Given the description of an element on the screen output the (x, y) to click on. 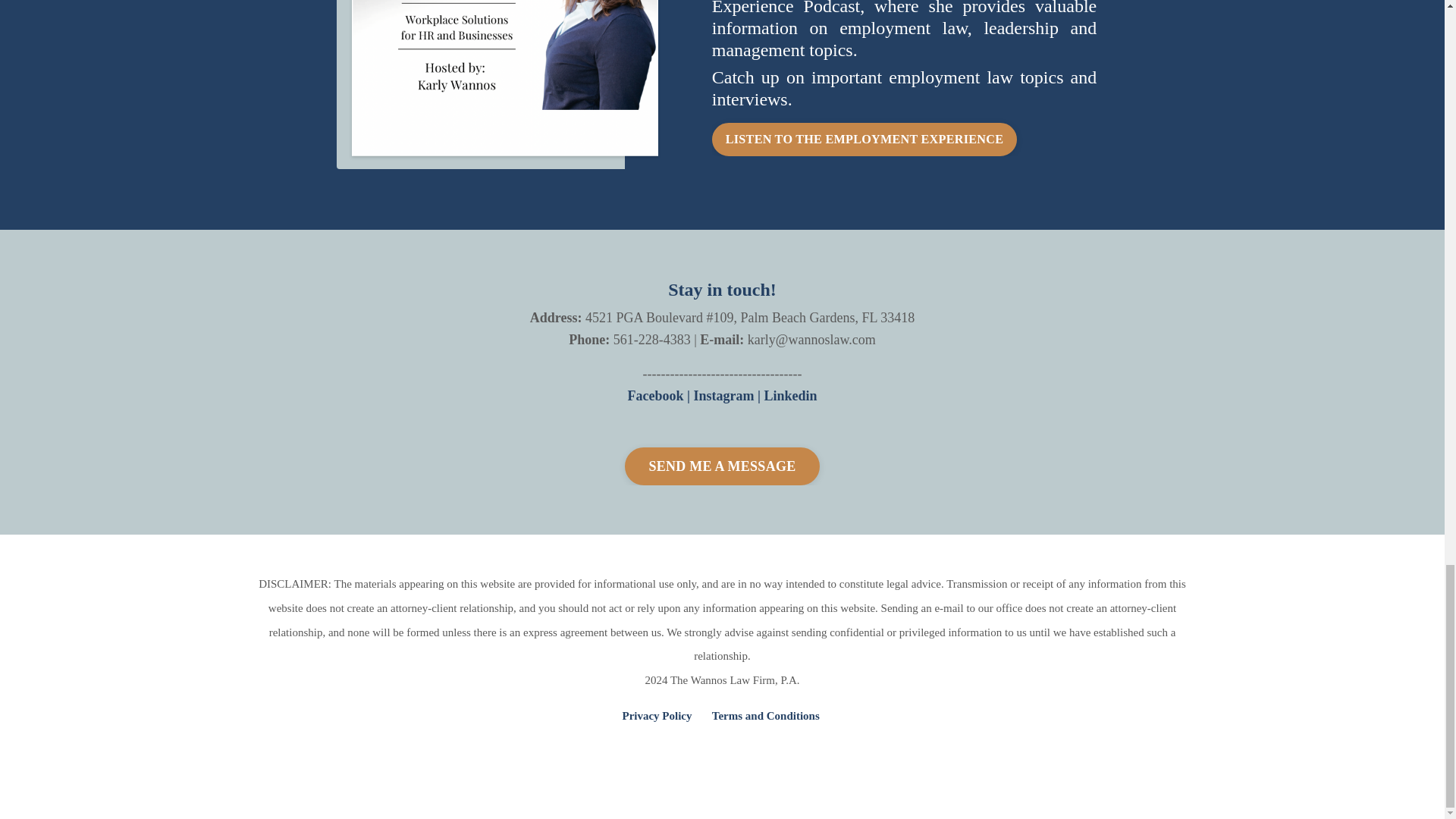
Terms and Conditions (765, 715)
LISTEN TO THE EMPLOYMENT EXPERIENCE (863, 139)
Facebook (655, 395)
Privacy Policy (656, 715)
Instagram (723, 395)
SEND ME A MESSAGE (722, 466)
561-228-4383 (651, 339)
Linkedin (789, 395)
